Given the description of an element on the screen output the (x, y) to click on. 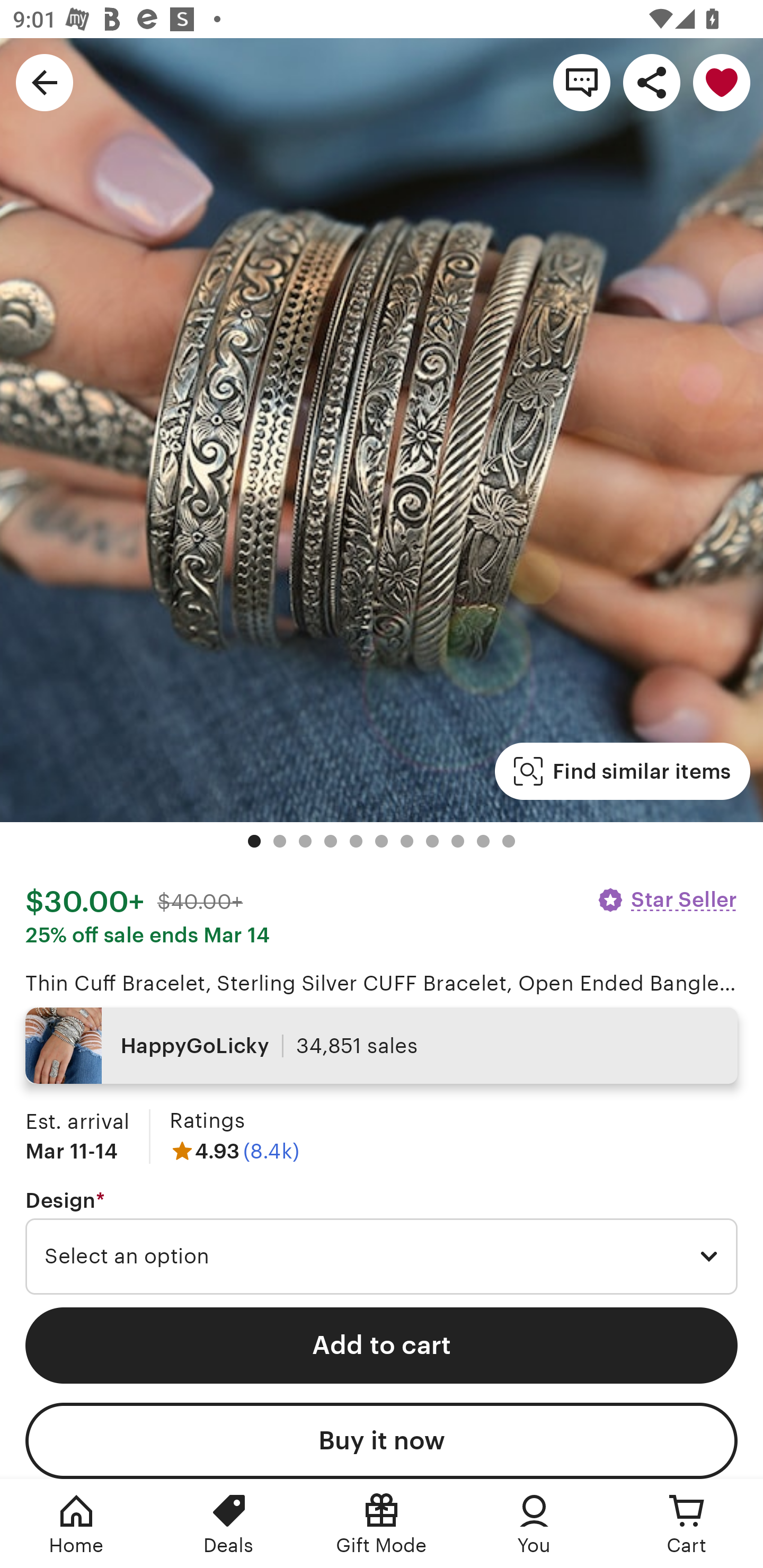
Navigate up (44, 81)
Contact shop (581, 81)
Share (651, 81)
Find similar items (622, 771)
Star Seller (666, 899)
HappyGoLicky 34,851 sales (381, 1045)
Ratings (206, 1120)
4.93 (8.4k) (234, 1150)
Design * Required Select an option (381, 1241)
Select an option (381, 1256)
Add to cart (381, 1344)
Buy it now (381, 1440)
Home (76, 1523)
Gift Mode (381, 1523)
You (533, 1523)
Cart (686, 1523)
